Given the description of an element on the screen output the (x, y) to click on. 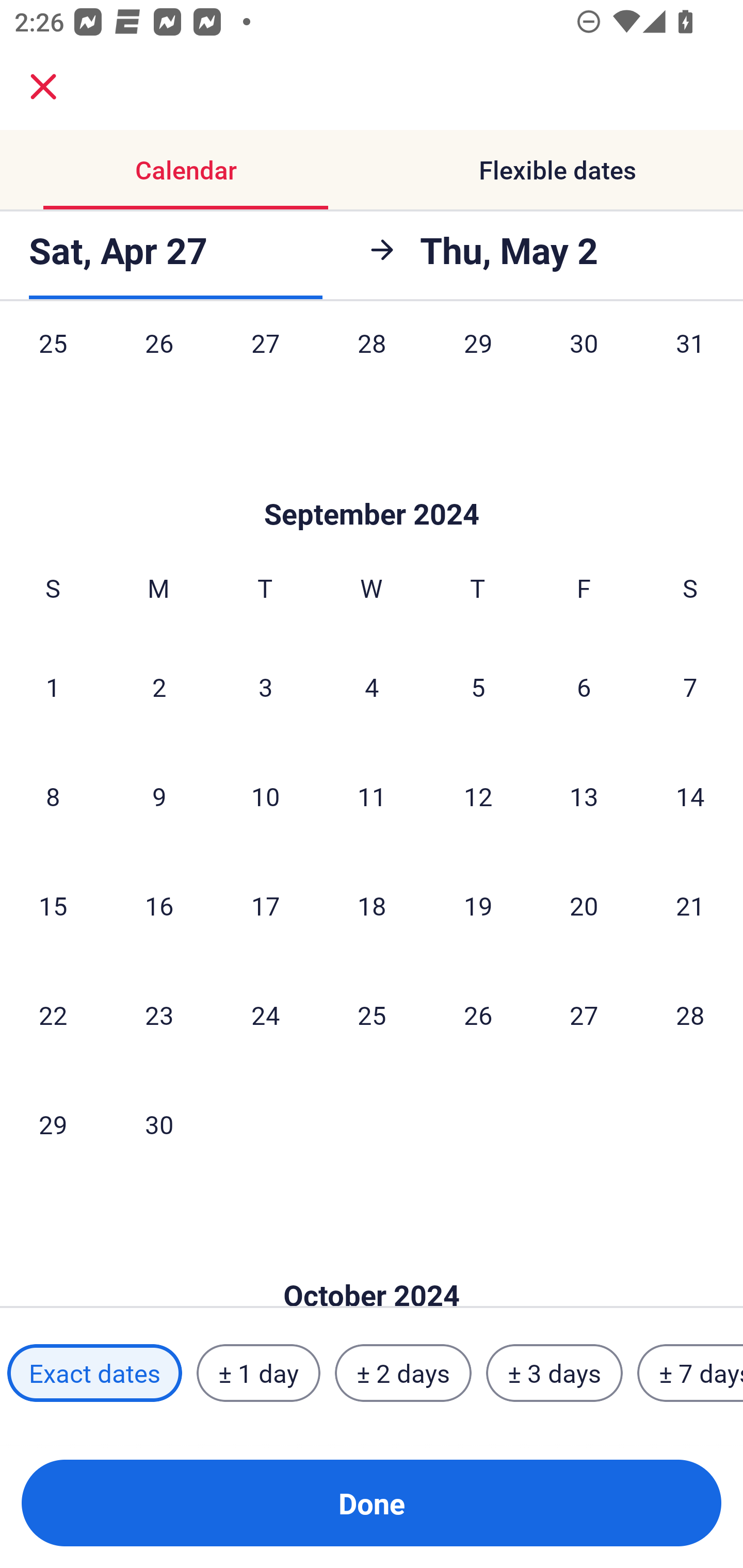
close. (43, 86)
Flexible dates (557, 170)
25 Sunday, August 25, 2024 (53, 362)
26 Monday, August 26, 2024 (159, 362)
27 Tuesday, August 27, 2024 (265, 362)
28 Wednesday, August 28, 2024 (371, 362)
29 Thursday, August 29, 2024 (477, 362)
30 Friday, August 30, 2024 (584, 362)
31 Saturday, August 31, 2024 (690, 362)
Skip to Done (371, 483)
1 Sunday, September 1, 2024 (53, 686)
2 Monday, September 2, 2024 (159, 686)
3 Tuesday, September 3, 2024 (265, 686)
4 Wednesday, September 4, 2024 (371, 686)
5 Thursday, September 5, 2024 (477, 686)
6 Friday, September 6, 2024 (584, 686)
7 Saturday, September 7, 2024 (690, 686)
8 Sunday, September 8, 2024 (53, 795)
9 Monday, September 9, 2024 (159, 795)
10 Tuesday, September 10, 2024 (265, 795)
11 Wednesday, September 11, 2024 (371, 795)
12 Thursday, September 12, 2024 (477, 795)
13 Friday, September 13, 2024 (584, 795)
14 Saturday, September 14, 2024 (690, 795)
15 Sunday, September 15, 2024 (53, 905)
16 Monday, September 16, 2024 (159, 905)
17 Tuesday, September 17, 2024 (265, 905)
18 Wednesday, September 18, 2024 (371, 905)
19 Thursday, September 19, 2024 (477, 905)
20 Friday, September 20, 2024 (584, 905)
21 Saturday, September 21, 2024 (690, 905)
22 Sunday, September 22, 2024 (53, 1014)
23 Monday, September 23, 2024 (159, 1014)
24 Tuesday, September 24, 2024 (265, 1014)
25 Wednesday, September 25, 2024 (371, 1014)
26 Thursday, September 26, 2024 (477, 1014)
27 Friday, September 27, 2024 (584, 1014)
28 Saturday, September 28, 2024 (690, 1014)
29 Sunday, September 29, 2024 (53, 1123)
30 Monday, September 30, 2024 (159, 1123)
Skip to Done (371, 1263)
Exact dates (94, 1372)
± 1 day (258, 1372)
± 2 days (403, 1372)
± 3 days (553, 1372)
± 7 days (690, 1372)
Done (371, 1502)
